Given the description of an element on the screen output the (x, y) to click on. 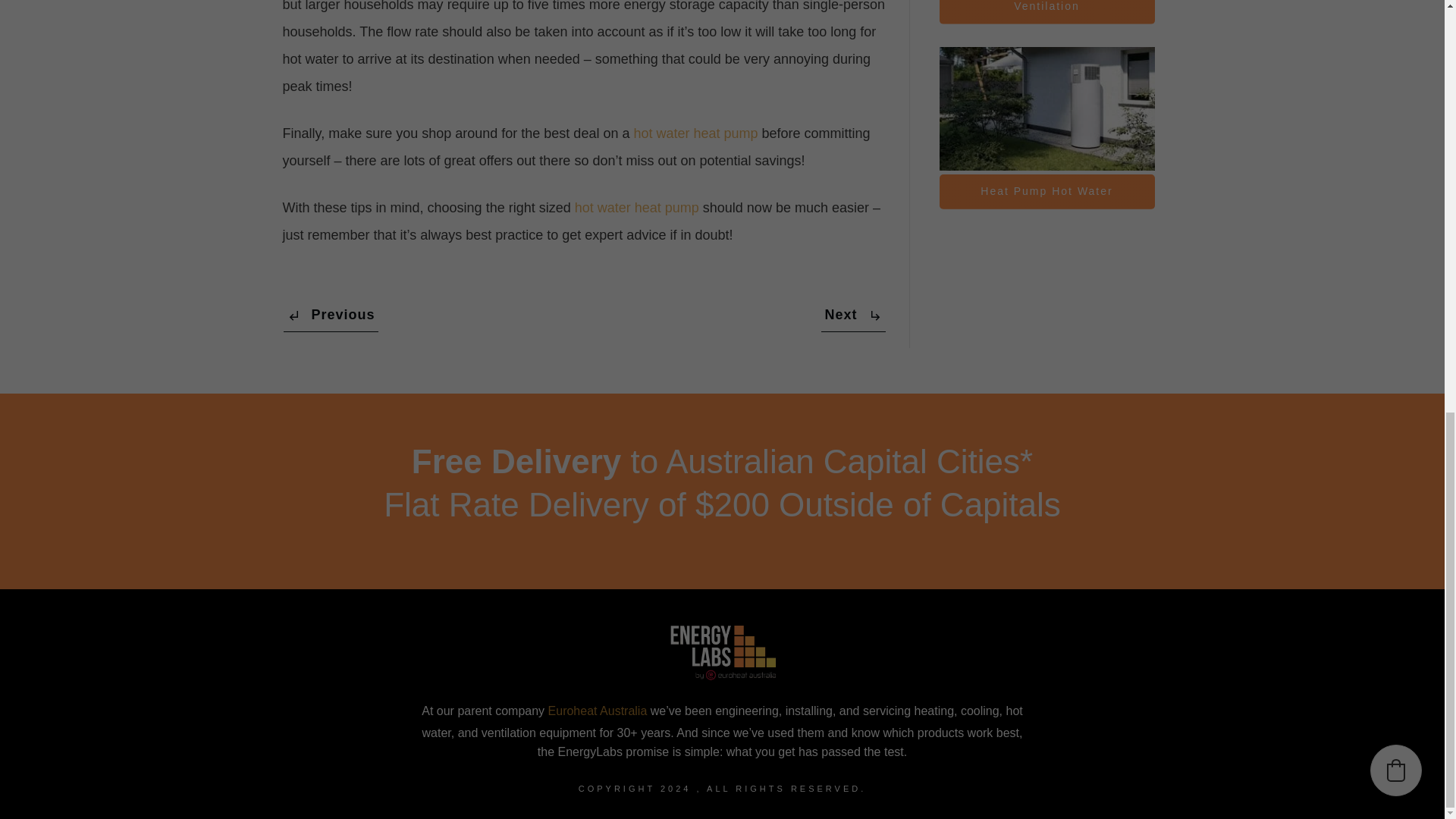
hot water heat pump (636, 207)
hot water heat pump (695, 133)
Heat Pump Hot Water (1046, 191)
wwk-heat-pump-2 (1046, 108)
Euroheat Australia (597, 710)
Next (853, 315)
Previous (330, 315)
Decentralized Heat Recovery Ventilation (1046, 11)
